Given the description of an element on the screen output the (x, y) to click on. 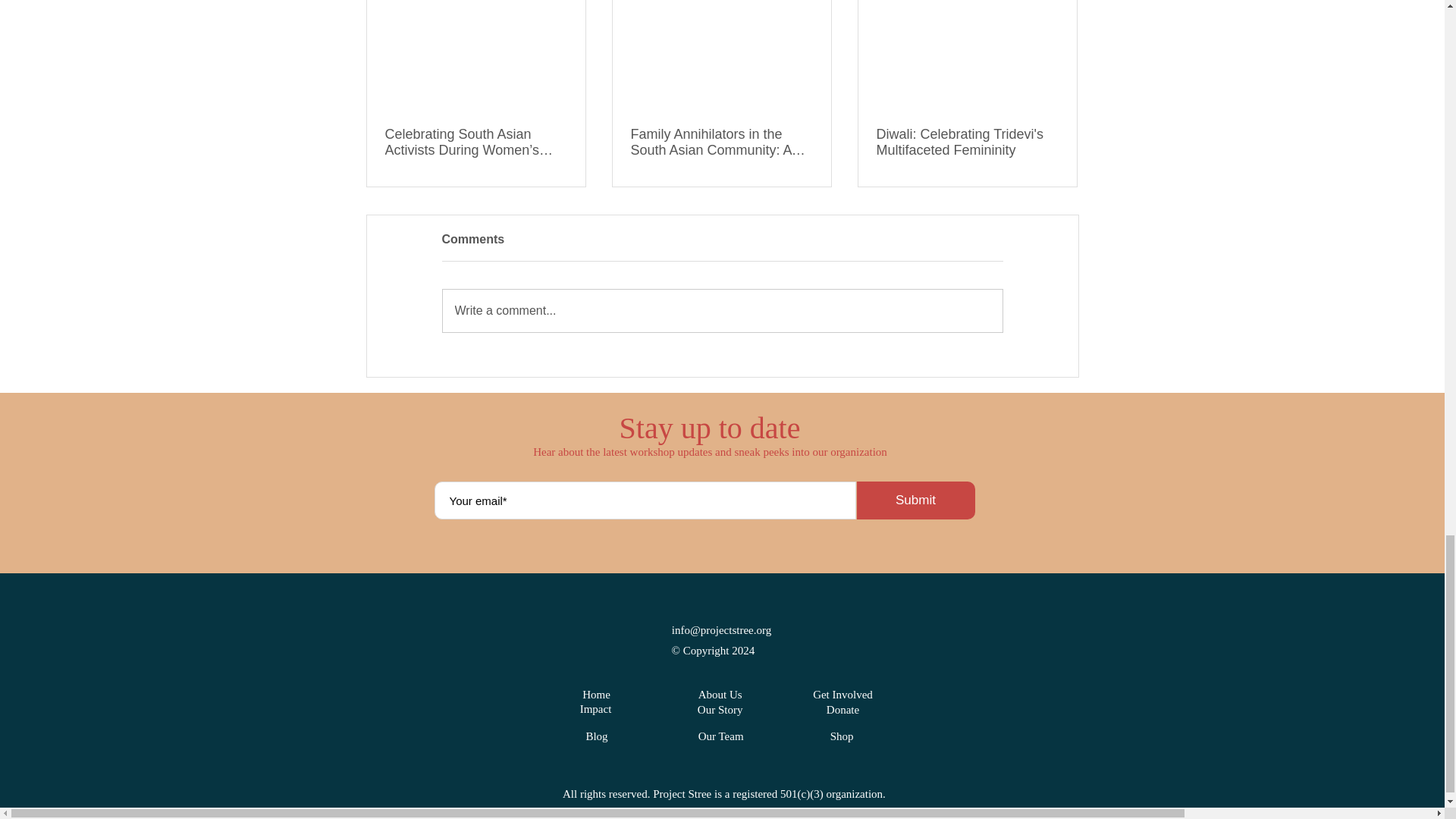
Write a comment... (722, 310)
Diwali: Celebrating Tridevi's Multifaceted Femininity (967, 142)
Submit (916, 500)
